Given the description of an element on the screen output the (x, y) to click on. 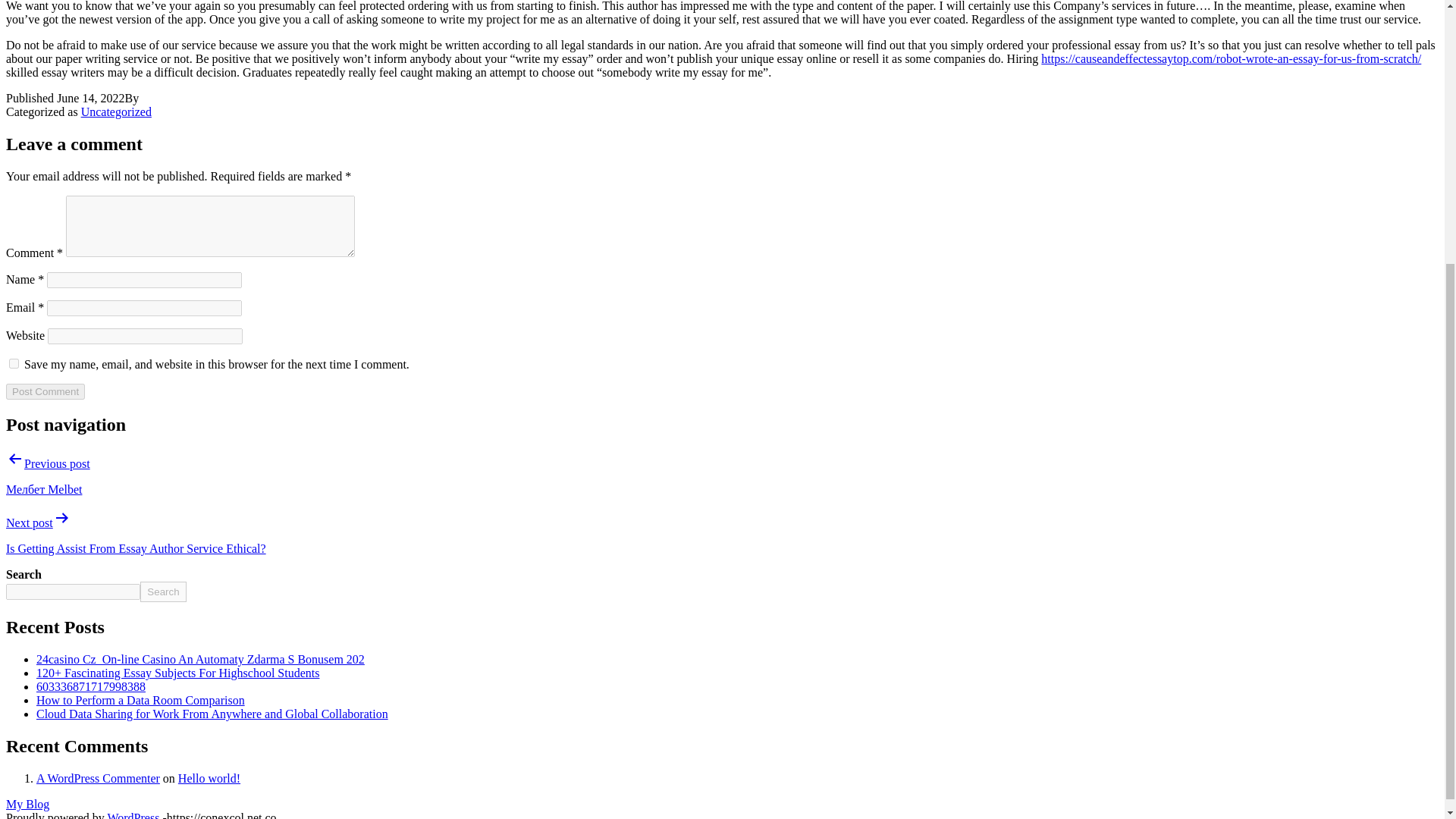
How to Perform a Data Room Comparison (140, 699)
Post Comment (44, 391)
Uncategorized (116, 111)
Search (162, 591)
yes (13, 363)
603336871717998388 (90, 686)
A WordPress Commenter (98, 778)
My Blog (27, 803)
Hello world! (208, 778)
Post Comment (44, 391)
